Given the description of an element on the screen output the (x, y) to click on. 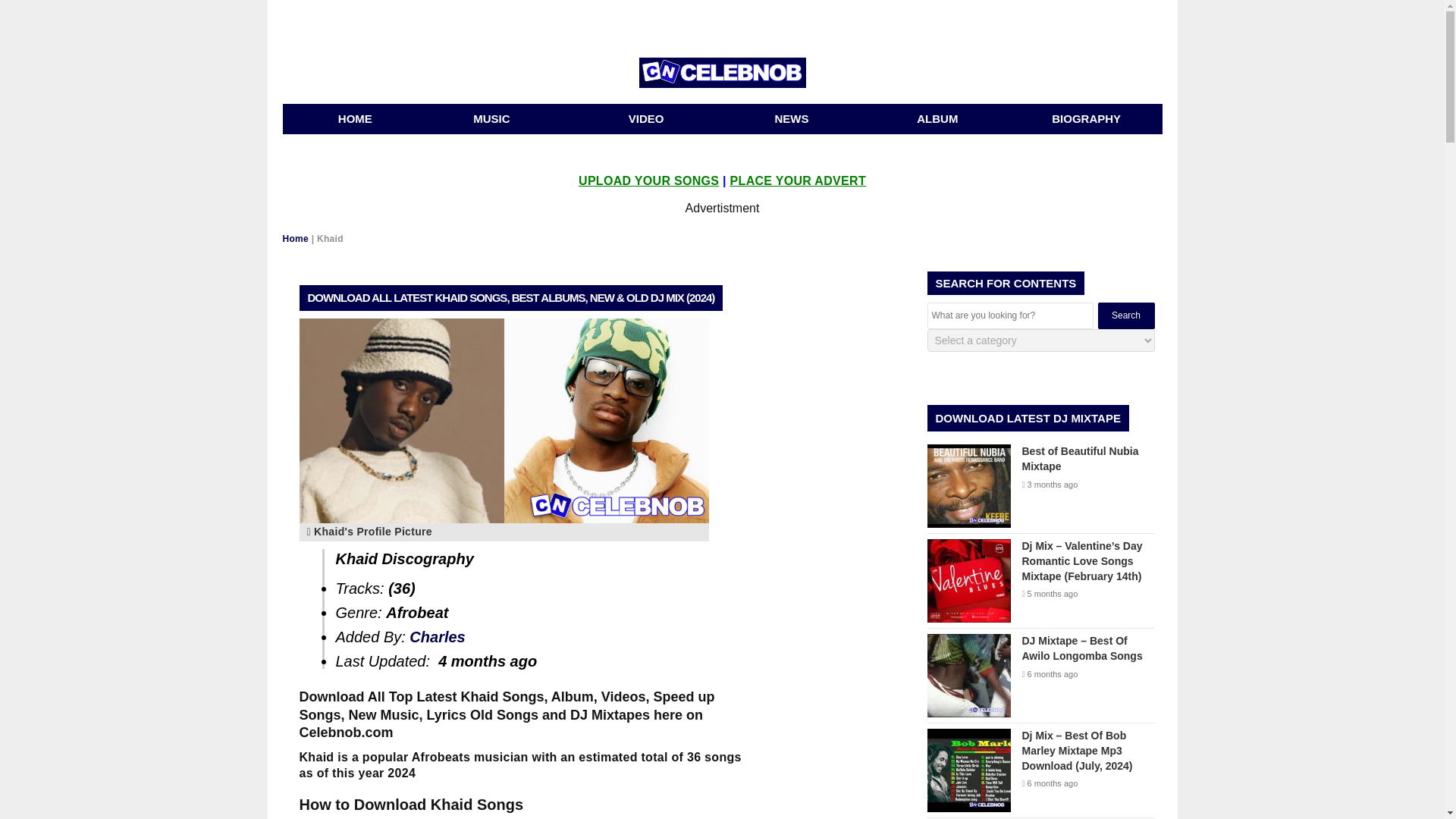
VIDEO (646, 119)
PLACE YOUR ADVERT (798, 180)
NEWS (791, 119)
UPLOAD YOUR SONGS (648, 180)
News (791, 119)
Home (295, 238)
HOME (355, 119)
Posts by Charles (436, 636)
Music (500, 119)
MUSIC (500, 119)
Videos (646, 119)
Home (355, 119)
Charles (436, 636)
